Given the description of an element on the screen output the (x, y) to click on. 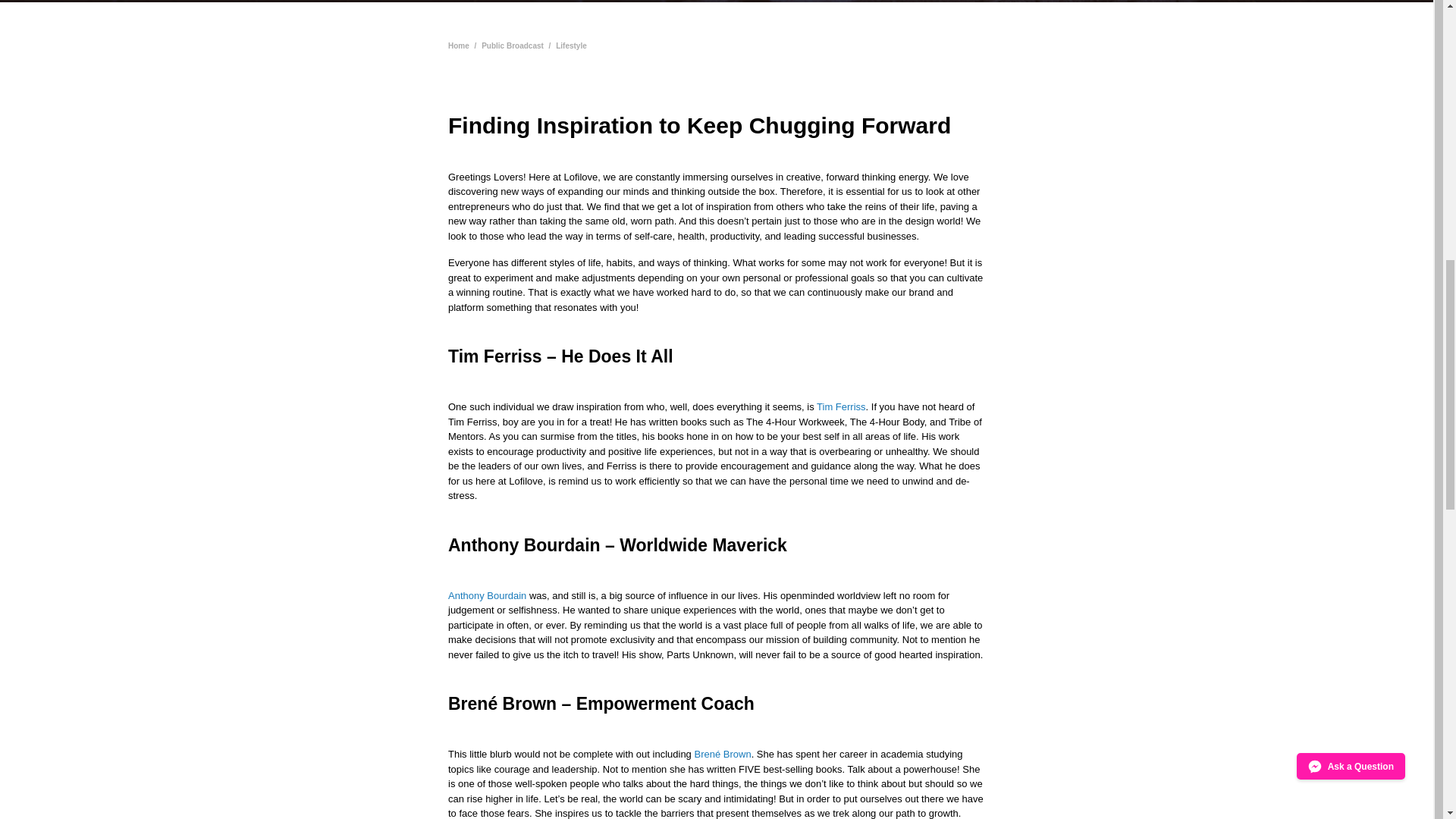
Public Broadcast (513, 45)
Home (458, 45)
Anthony Bourdain (486, 595)
Lifestyle (571, 45)
Tim Ferriss (841, 406)
